Given the description of an element on the screen output the (x, y) to click on. 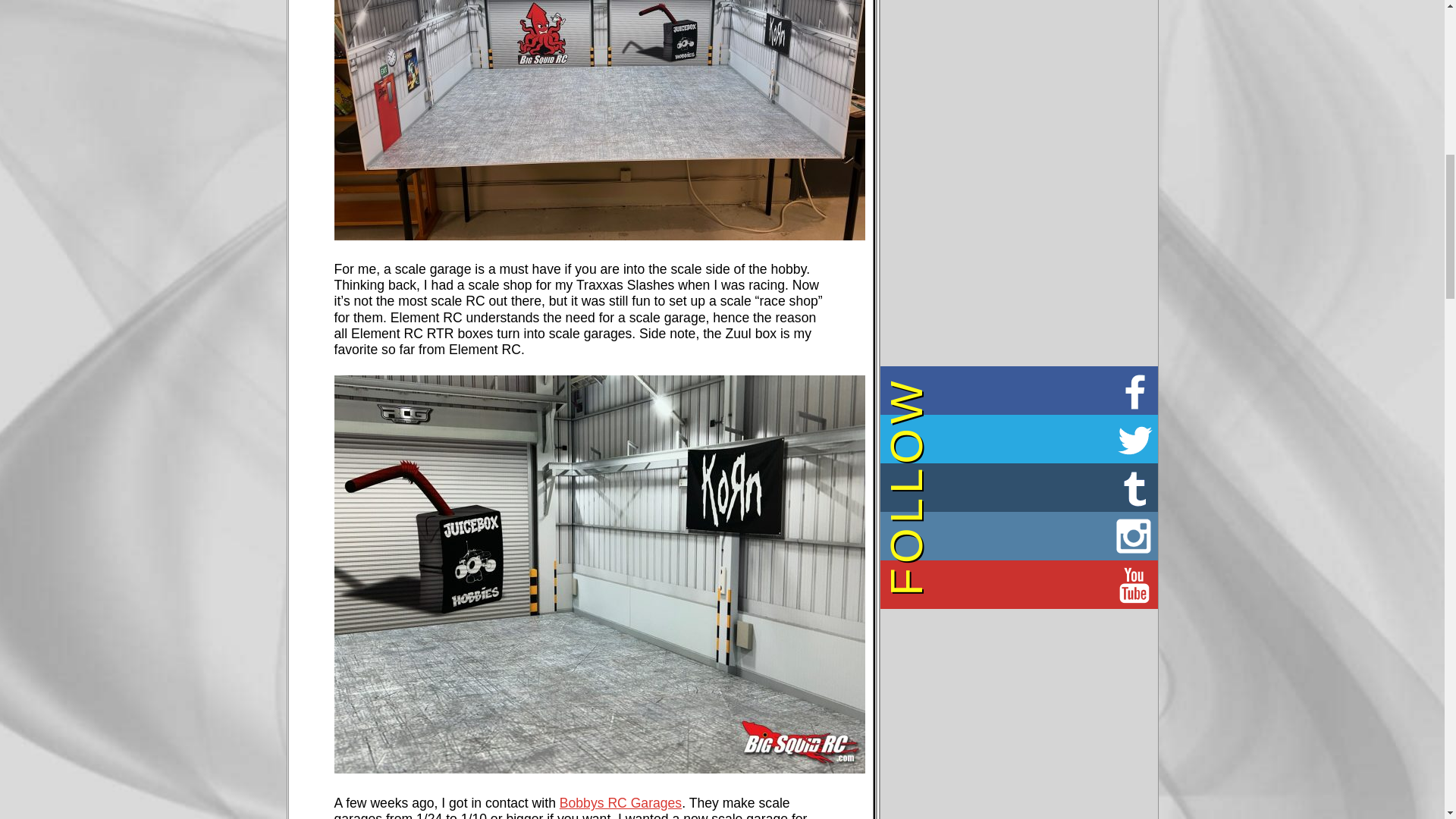
3rd party ad content (1018, 252)
Big Squid RC on Twitter (1018, 438)
Big Squid RC on Facebook (1018, 390)
Bobbys RC Garages (620, 802)
